Given the description of an element on the screen output the (x, y) to click on. 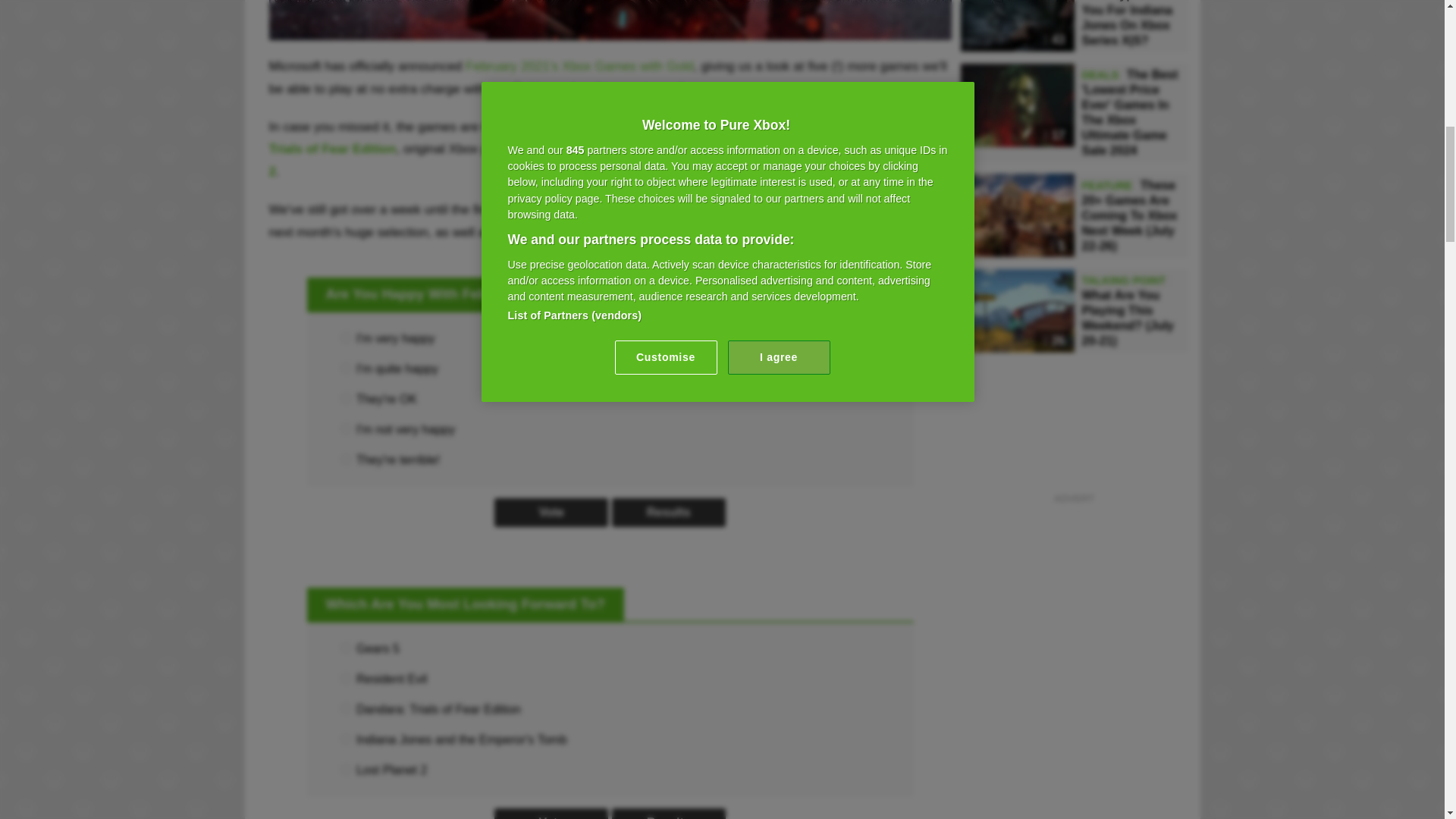
Vote (551, 813)
Results (668, 512)
Results (668, 813)
Vote (551, 512)
